Given the description of an element on the screen output the (x, y) to click on. 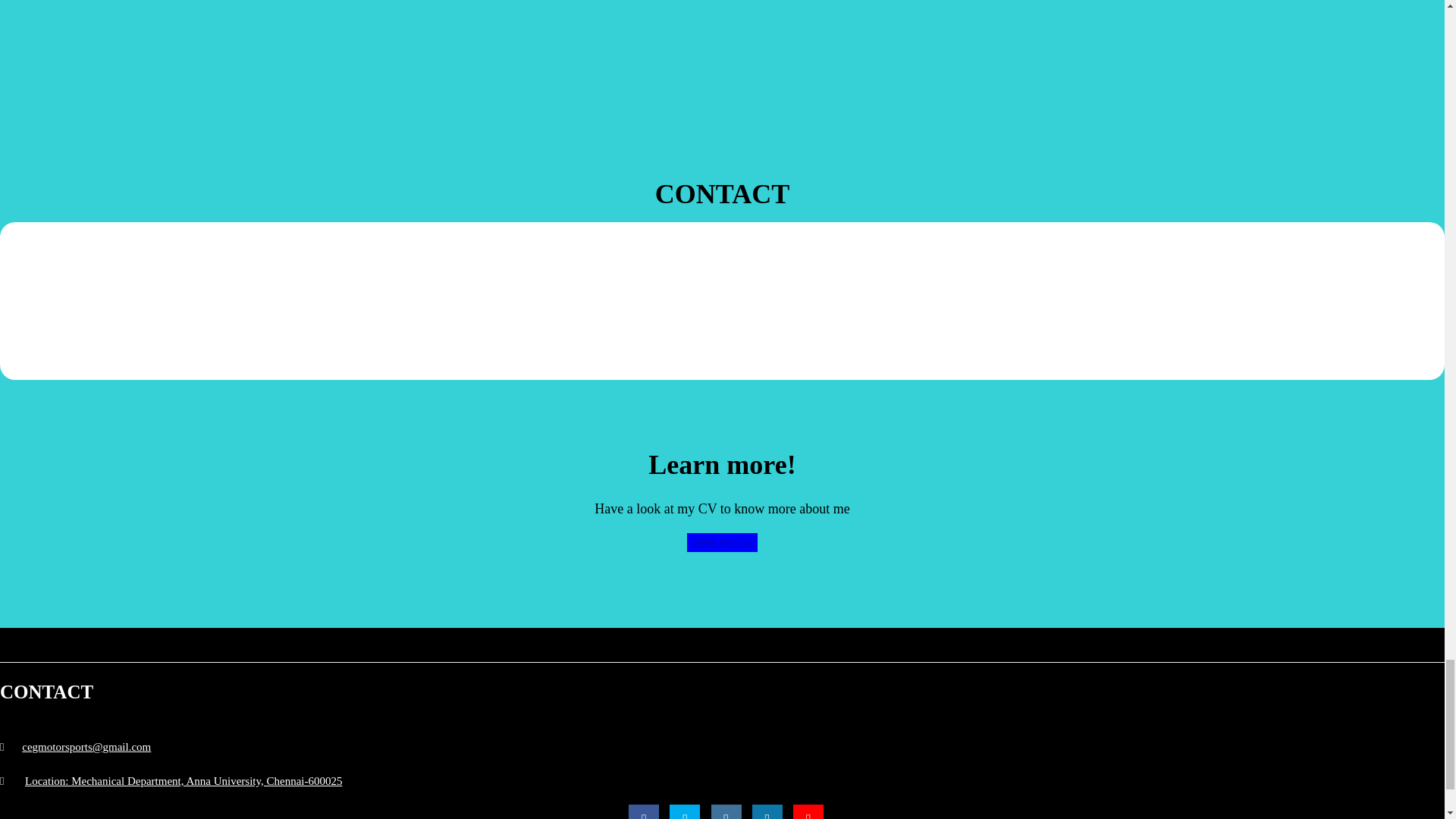
View my CV (721, 541)
View my CV (722, 542)
